Given the description of an element on the screen output the (x, y) to click on. 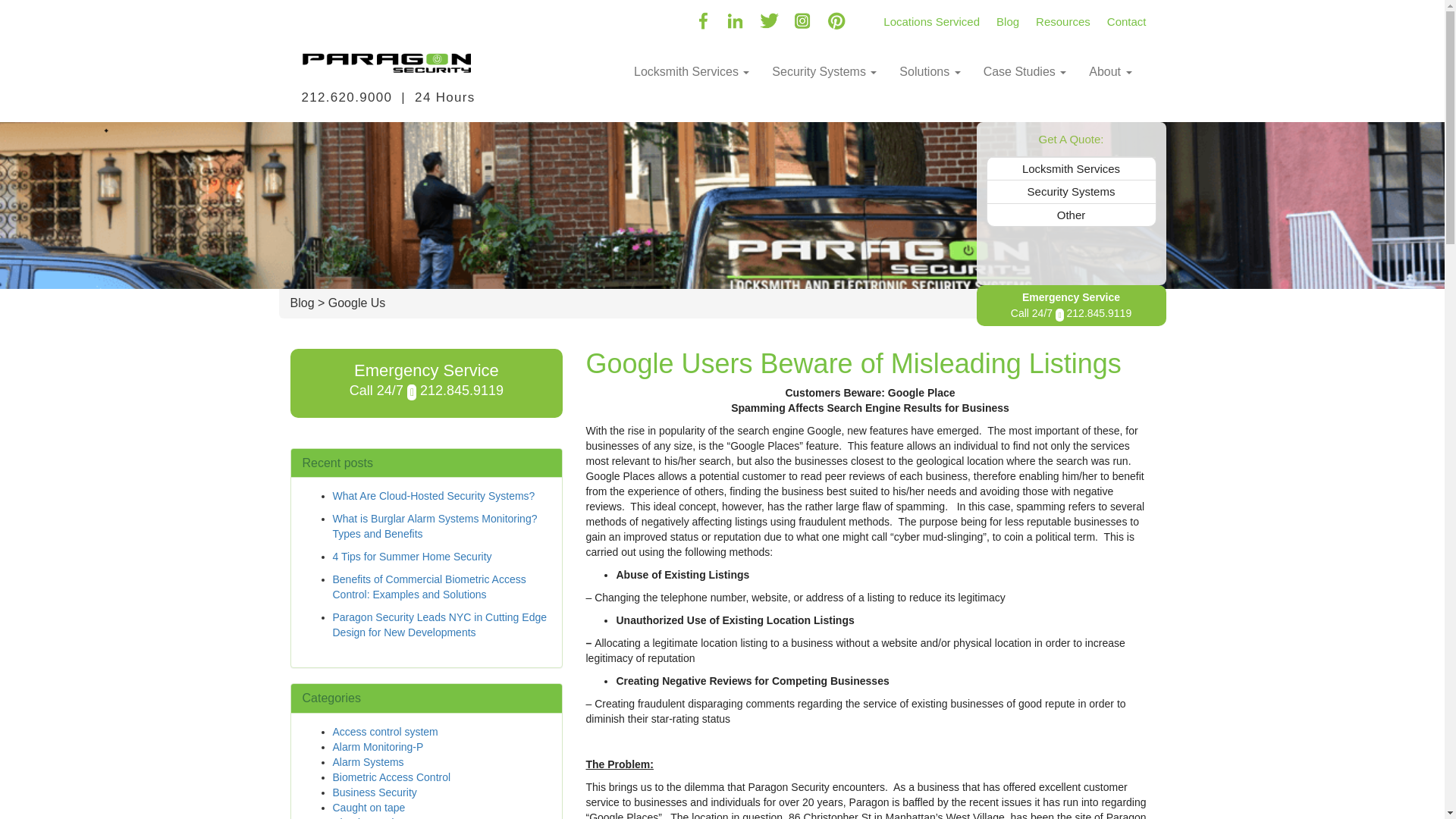
Contact (1126, 15)
212.620.9000 (347, 97)
Resources (1063, 15)
Locations Serviced (931, 15)
Locksmith Services (691, 71)
Blog (1007, 15)
